Given the description of an element on the screen output the (x, y) to click on. 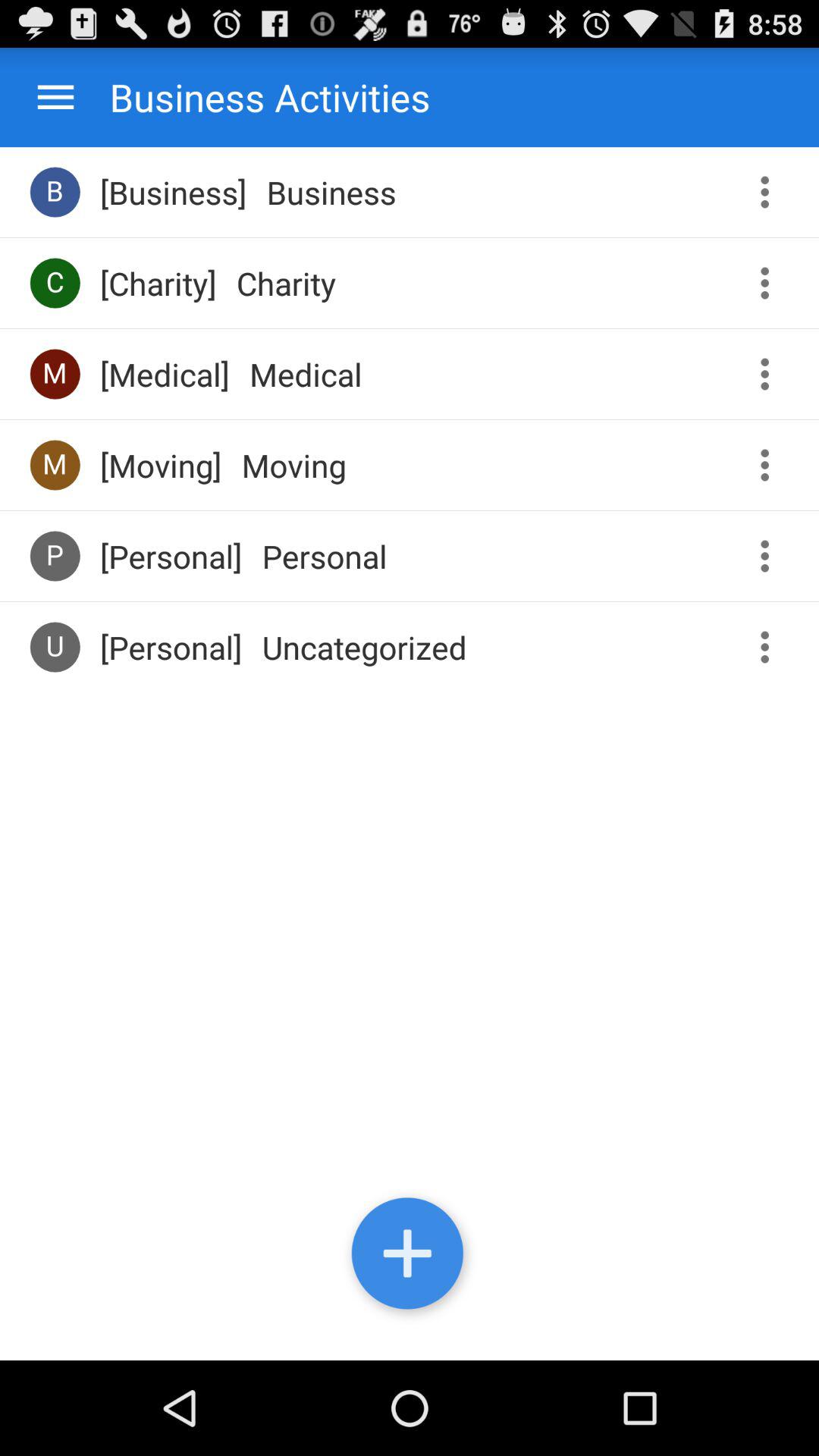
more information toggle (770, 374)
